Given the description of an element on the screen output the (x, y) to click on. 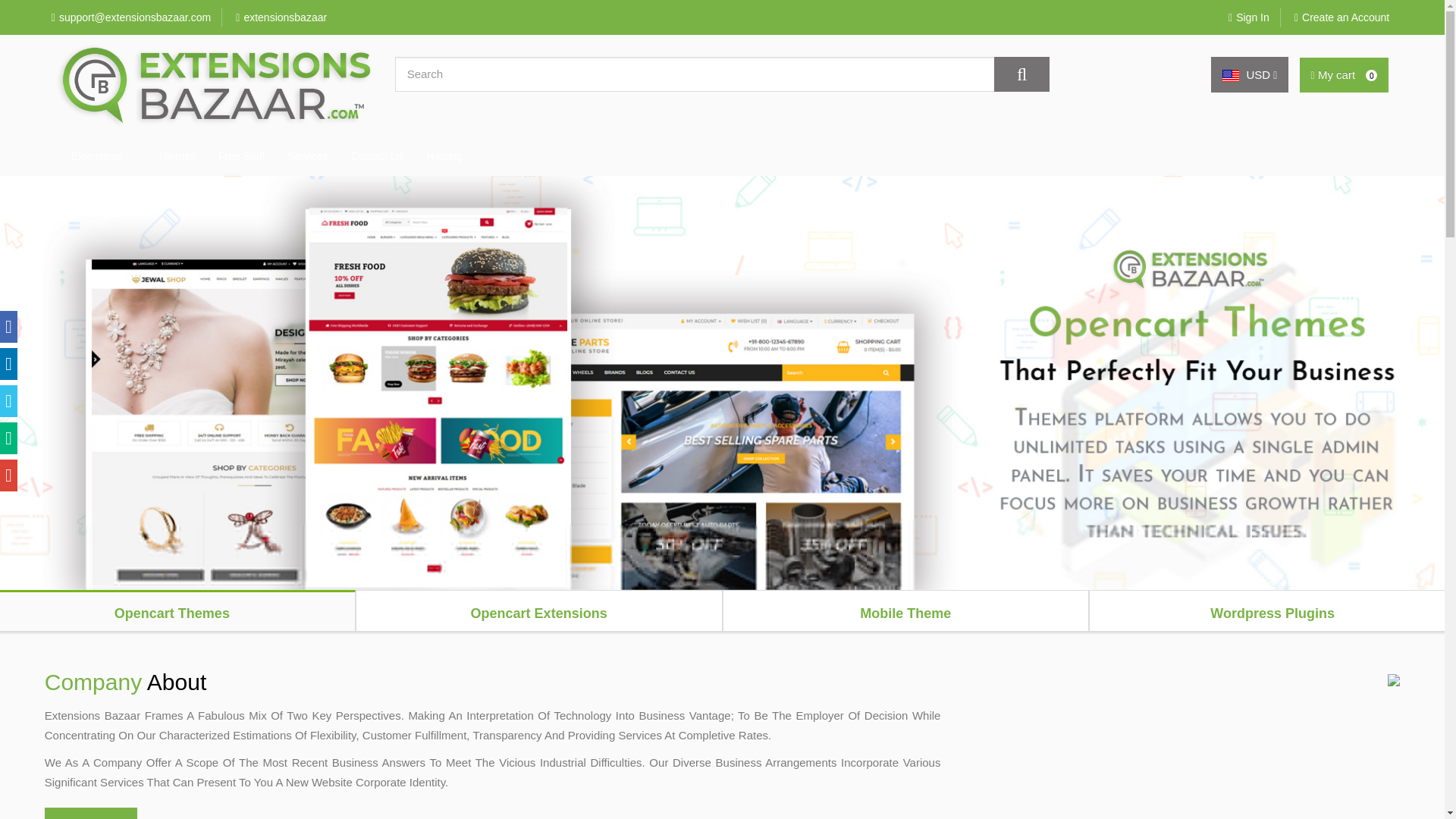
Extensions Bazaar (214, 86)
Services (307, 156)
Extensions (99, 156)
Sign In (1249, 17)
Opencart Extensions (539, 611)
extensionsbazaar (280, 17)
Opencart Themes (177, 611)
Create an Account (1341, 17)
Contact Us (376, 156)
USD  (1249, 74)
